Given the description of an element on the screen output the (x, y) to click on. 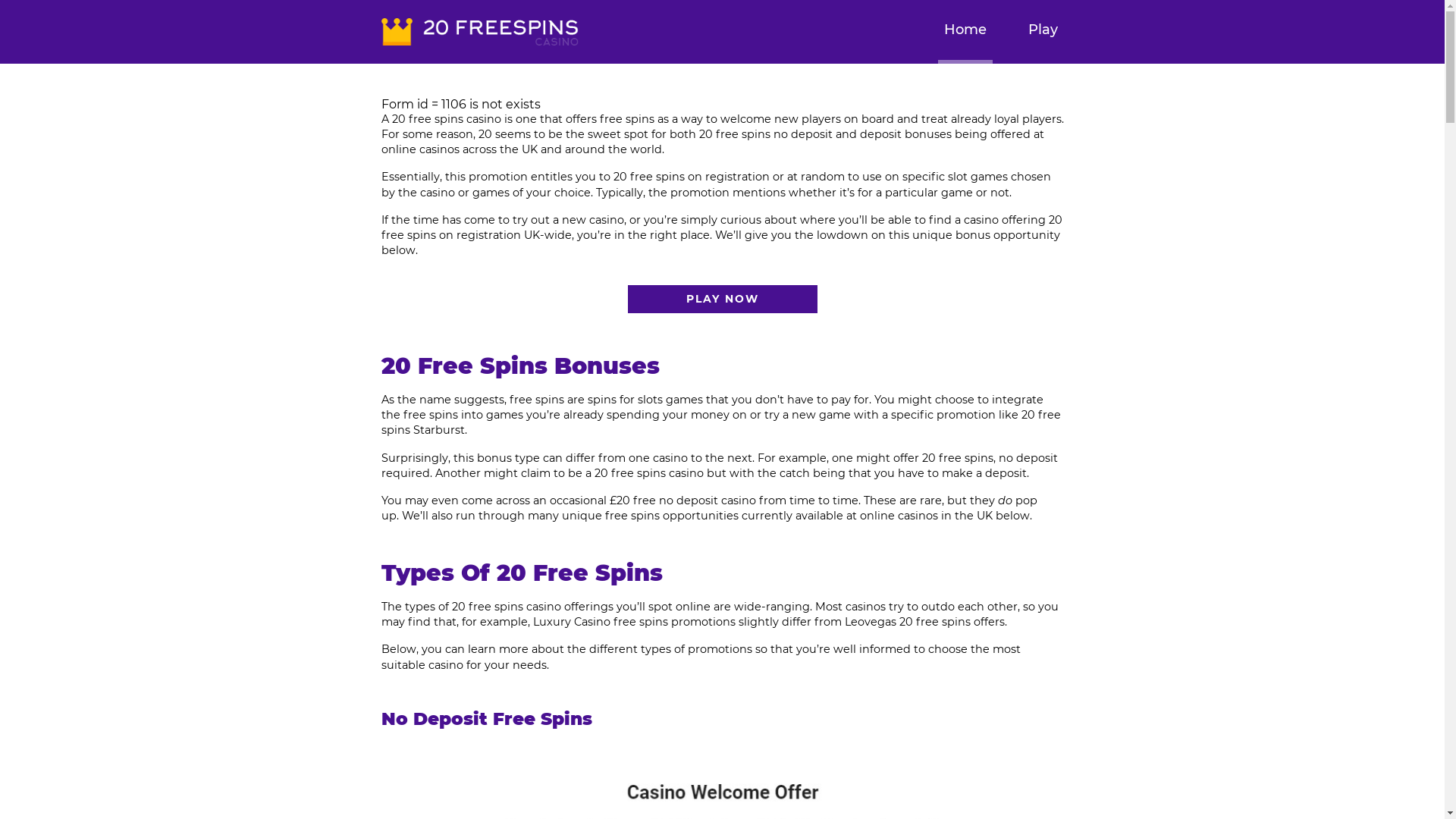
PLAY NOW Element type: text (722, 299)
Play Element type: text (1042, 31)
20 Free Spins Casino Element type: hover (478, 31)
Home Element type: text (965, 31)
